Given the description of an element on the screen output the (x, y) to click on. 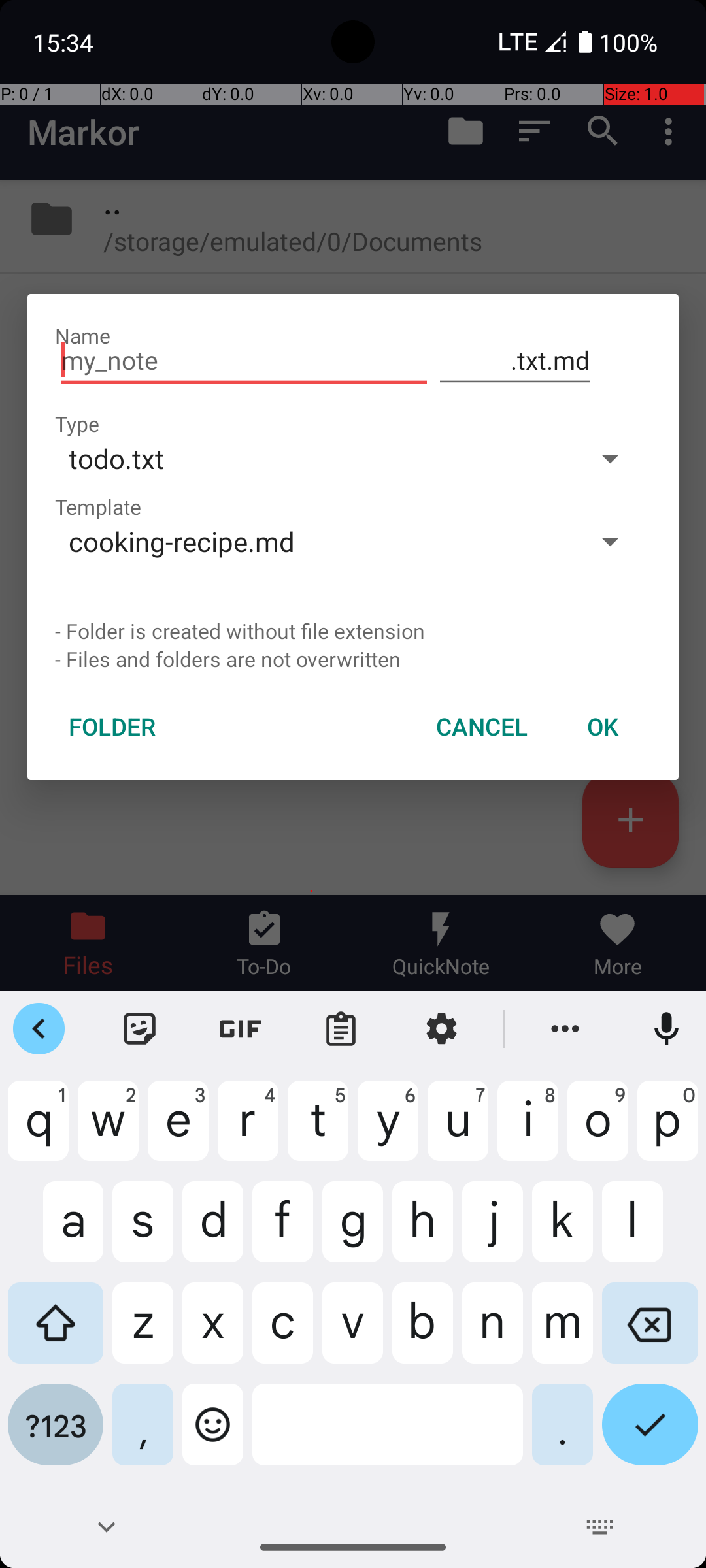
.txt.md Element type: android.widget.EditText (514, 360)
